Given the description of an element on the screen output the (x, y) to click on. 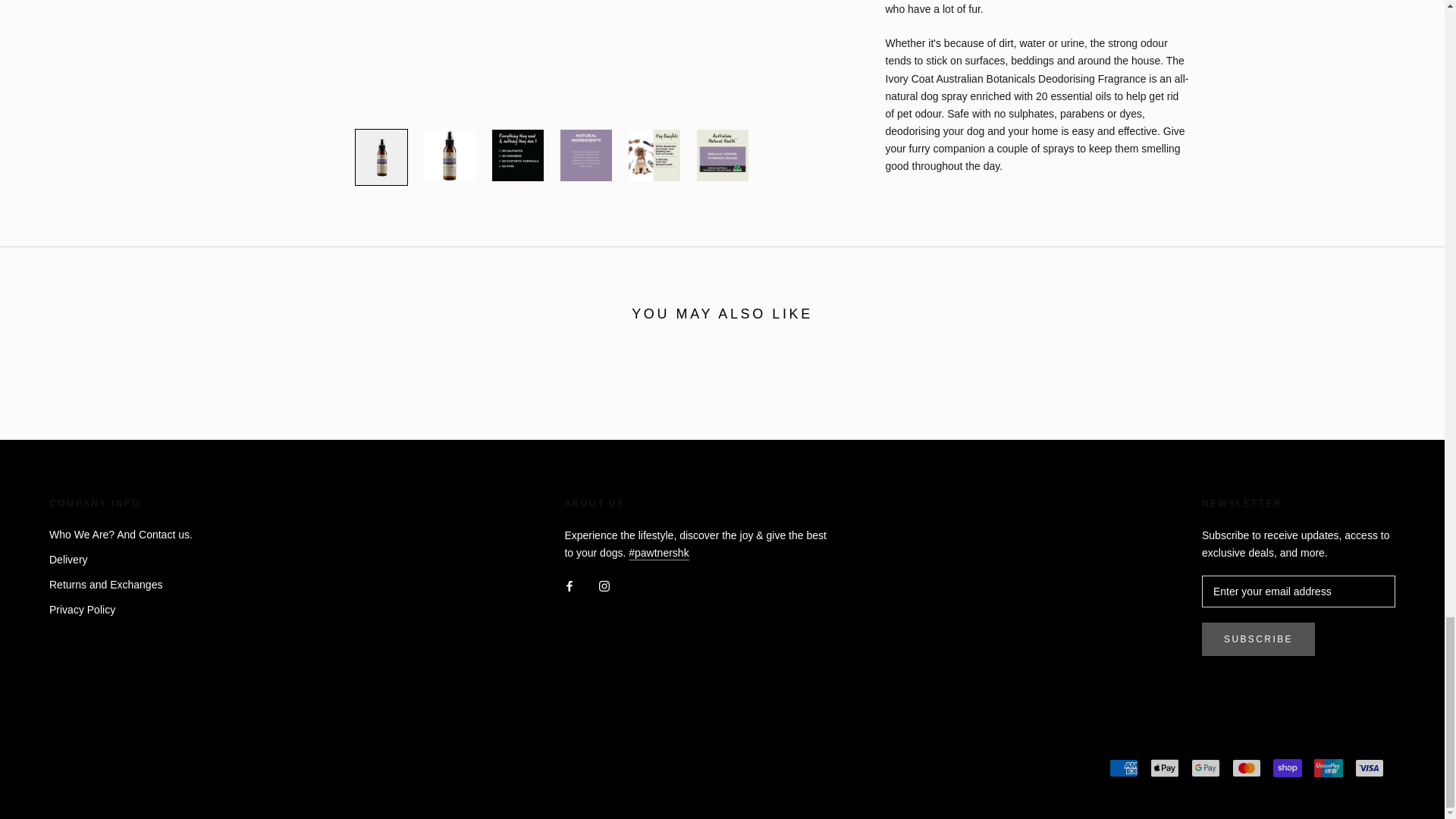
Union Pay (1328, 768)
Google Pay (1205, 768)
Mastercard (1245, 768)
American Express (1123, 768)
Shop Pay (1286, 768)
Apple Pay (1164, 768)
Visa (1369, 768)
